Given the description of an element on the screen output the (x, y) to click on. 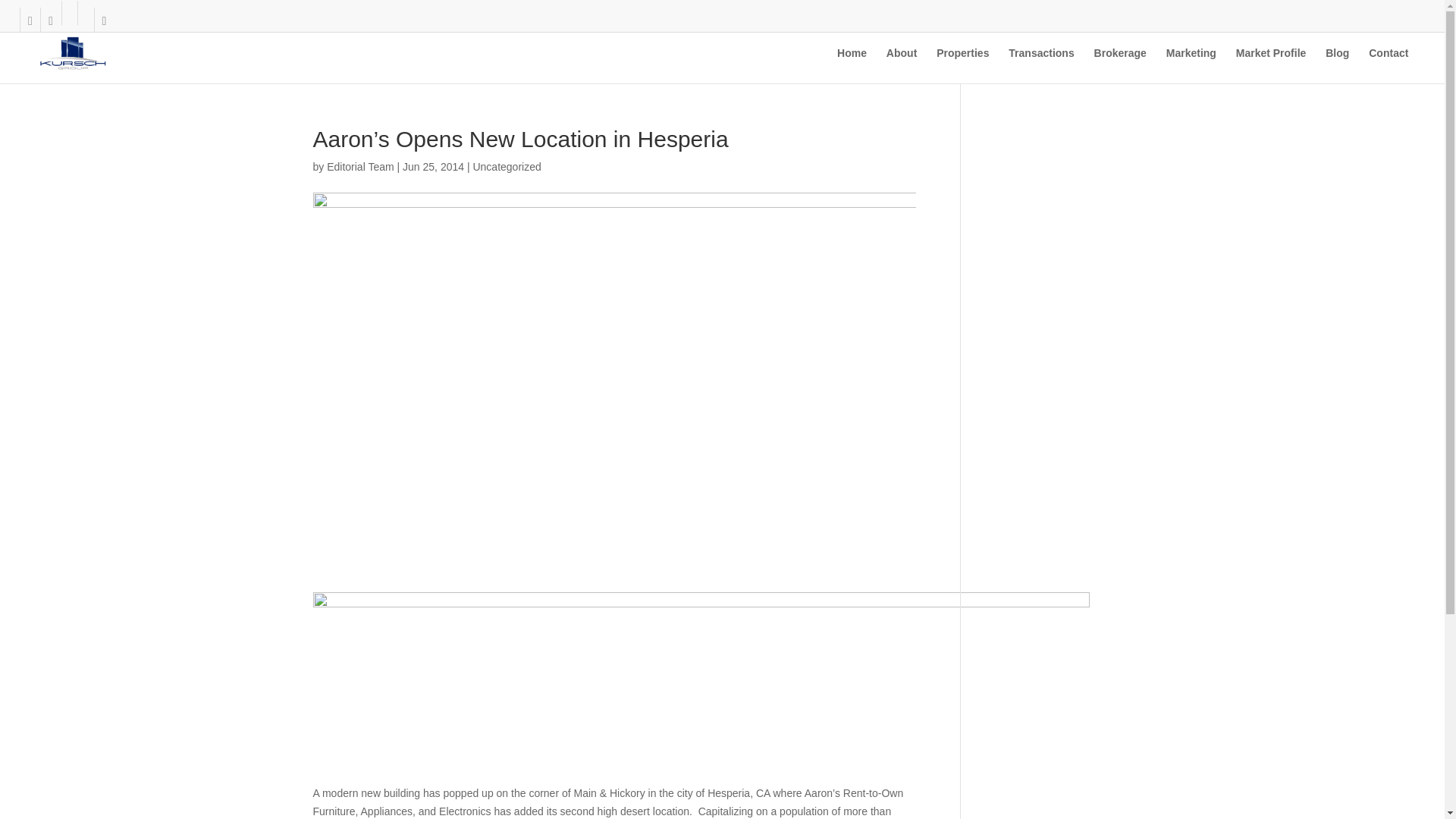
Editorial Team (359, 166)
Transactions (1041, 65)
Contact (1387, 65)
Marketing (1190, 65)
Market Profile (1271, 65)
Uncategorized (505, 166)
Properties (962, 65)
Brokerage (1120, 65)
Posts by Editorial Team (359, 166)
